Given the description of an element on the screen output the (x, y) to click on. 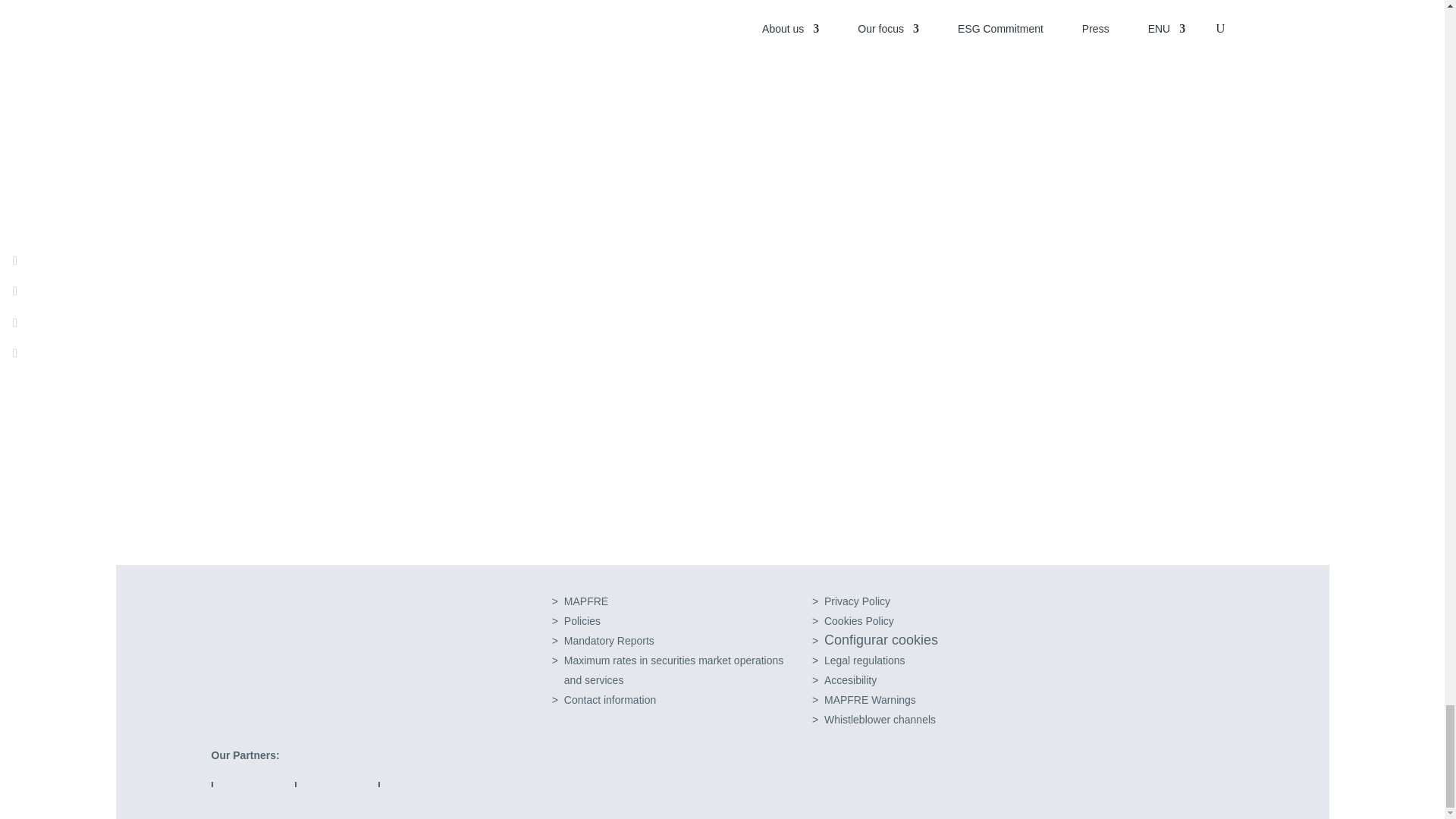
Contact information (673, 670)
Whistleblower channels (610, 699)
Cookies Policy (880, 719)
Configurar cookies (858, 621)
Accesibility (883, 640)
Privacy Policy (850, 680)
MAPFRE (856, 601)
MAPFRE Warnings (586, 601)
Policies (869, 699)
